Given the description of an element on the screen output the (x, y) to click on. 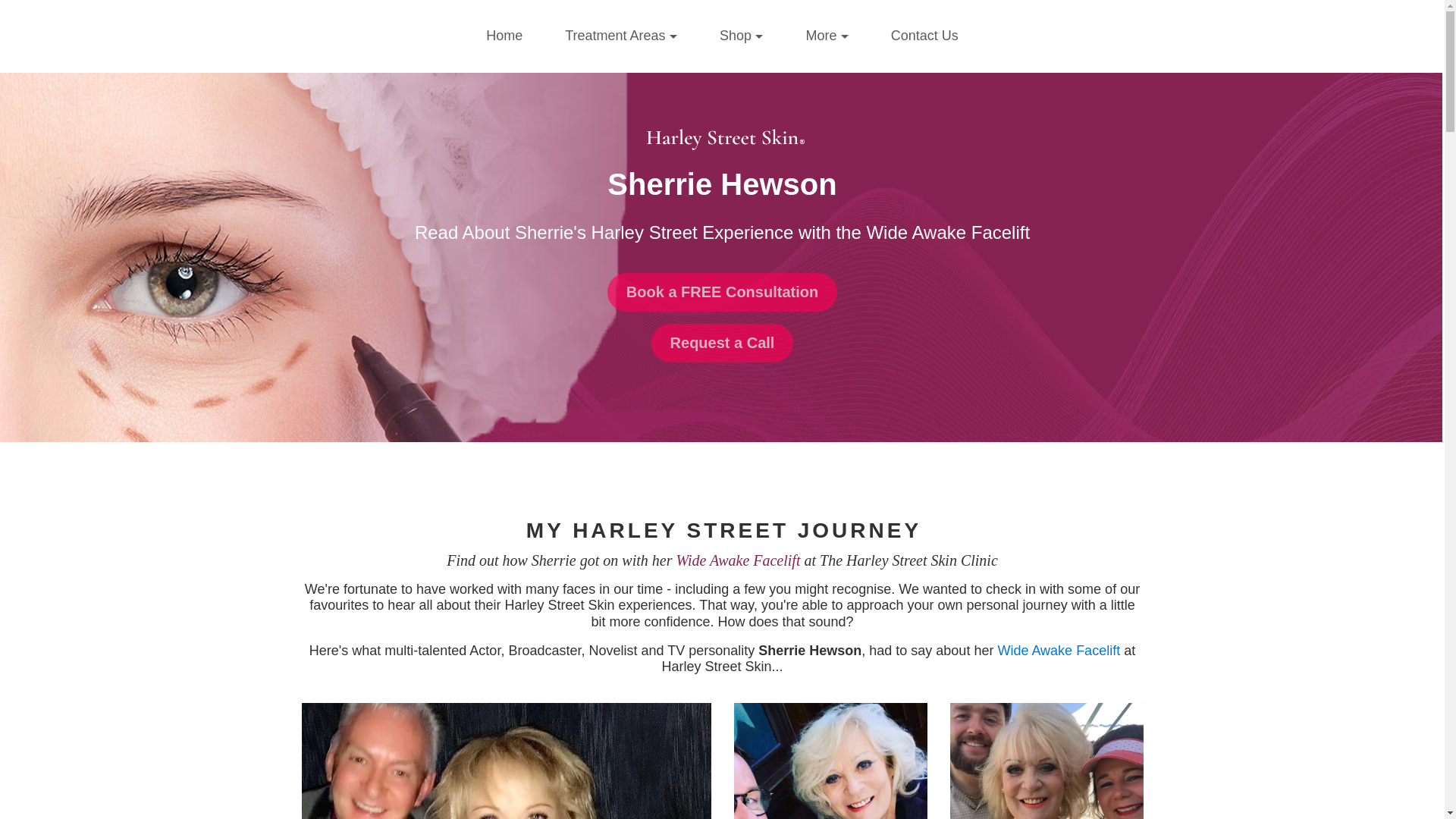
Wide Awake Facelift (1058, 650)
Contact Us (924, 36)
Treatment Areas (620, 36)
Request a Call (721, 341)
Sherrie Hewson Headshot (506, 760)
More (826, 36)
The Harley Street Skin Clinic (721, 137)
Book a FREE Consultation (722, 292)
Sherrie Hewson and Daughter (1045, 760)
Sherrie Hewson Loose Women (830, 760)
Book a FREE Consultation (722, 290)
Home (504, 36)
Shop (740, 36)
Request a Call (721, 342)
Wide Awake Facelift (737, 560)
